Given the description of an element on the screen output the (x, y) to click on. 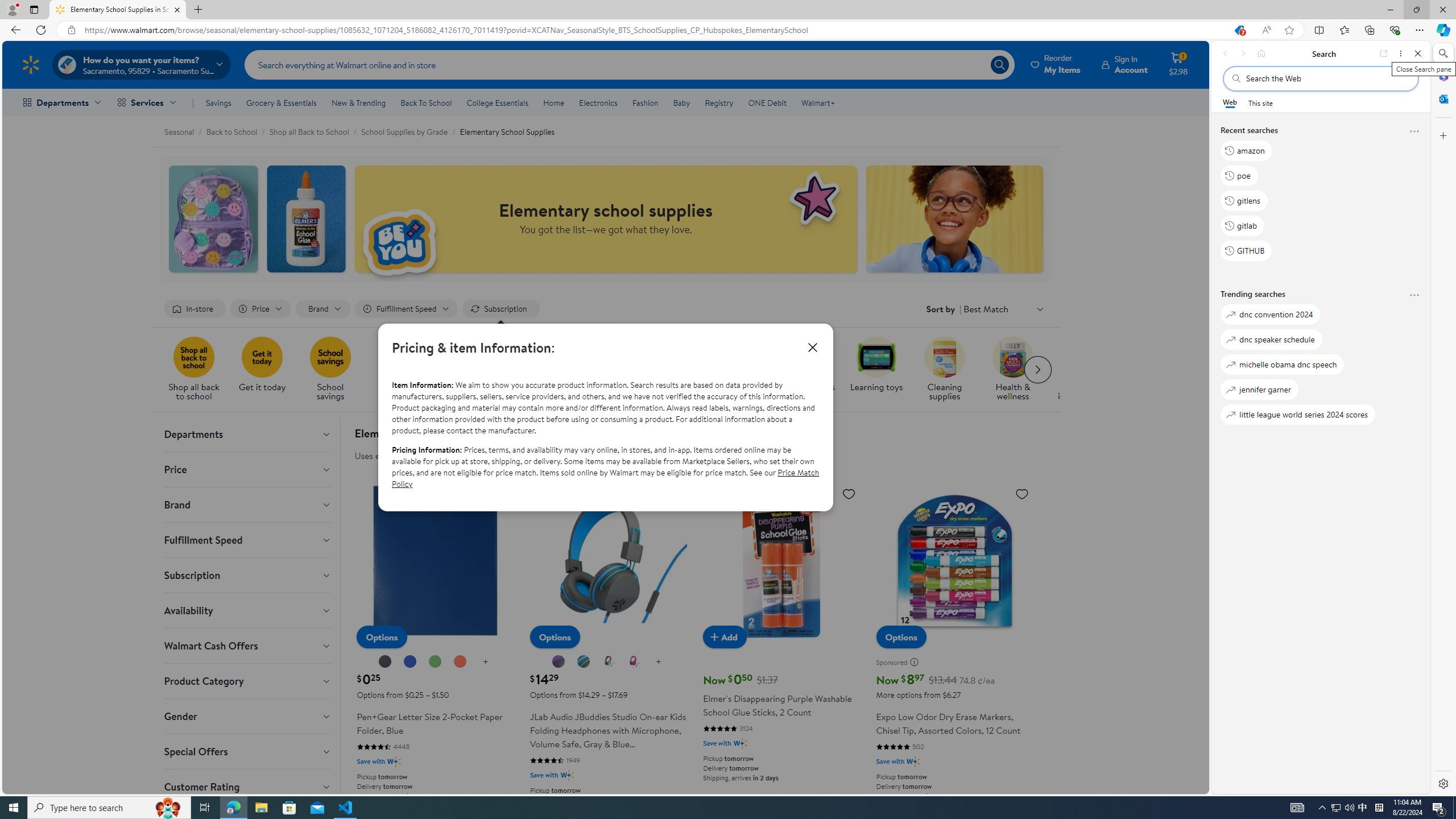
amazon (1246, 150)
This site scope (1259, 102)
Close dialog (812, 346)
Outlook (1442, 98)
poe (1238, 175)
jennifer garner (1259, 389)
dnc speaker schedule (1271, 339)
dnc convention 2024 (1270, 314)
